Given the description of an element on the screen output the (x, y) to click on. 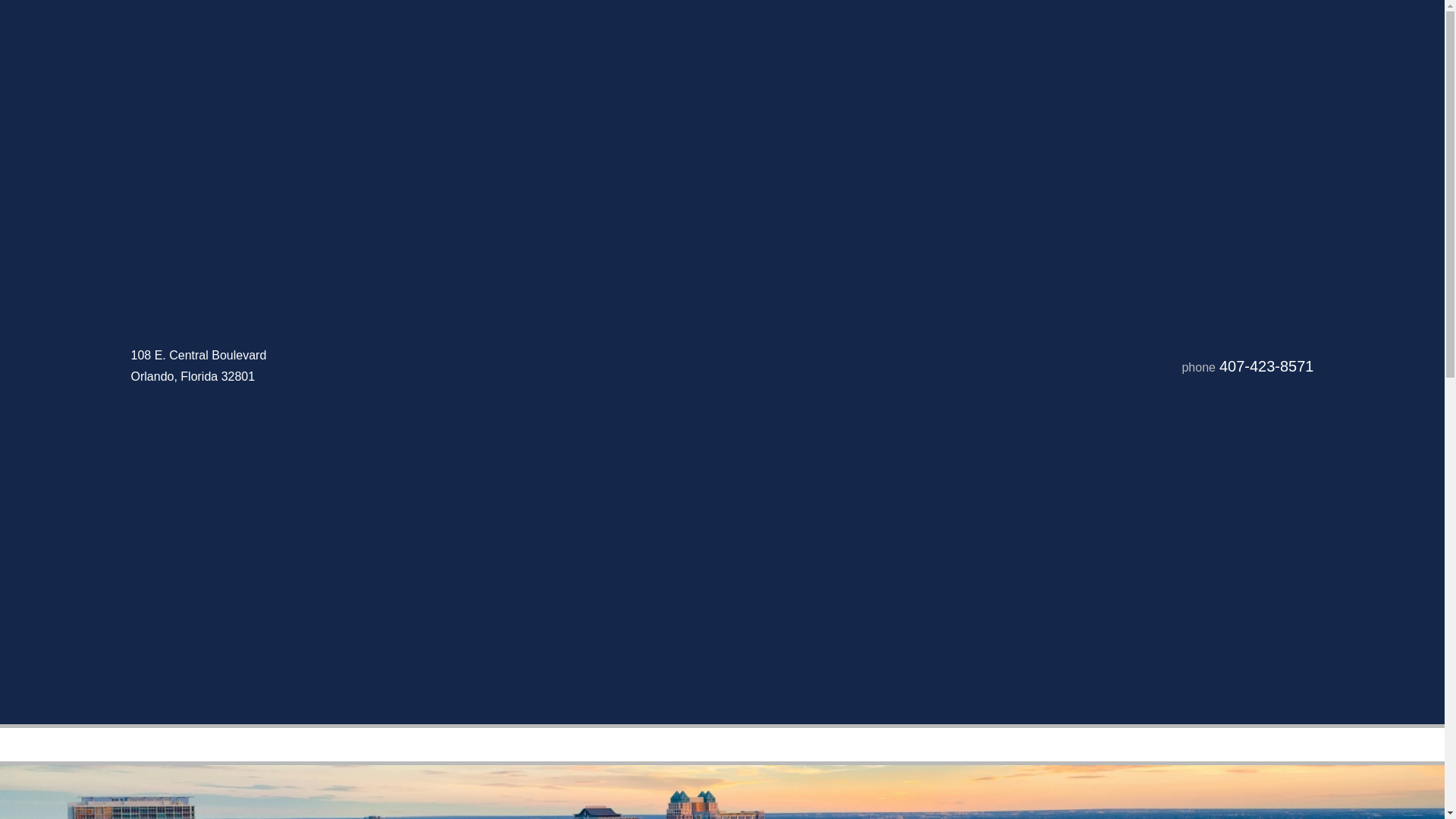
June 2023 (1087, 507)
407-423-8571 (1267, 365)
Facebook (139, 659)
ABOUT THE FIRM (949, 749)
HOME (360, 749)
September 2022 (1105, 549)
May 2023 (1085, 528)
August 2024 (1093, 462)
CONTACT (1071, 749)
General (1079, 643)
